Given the description of an element on the screen output the (x, y) to click on. 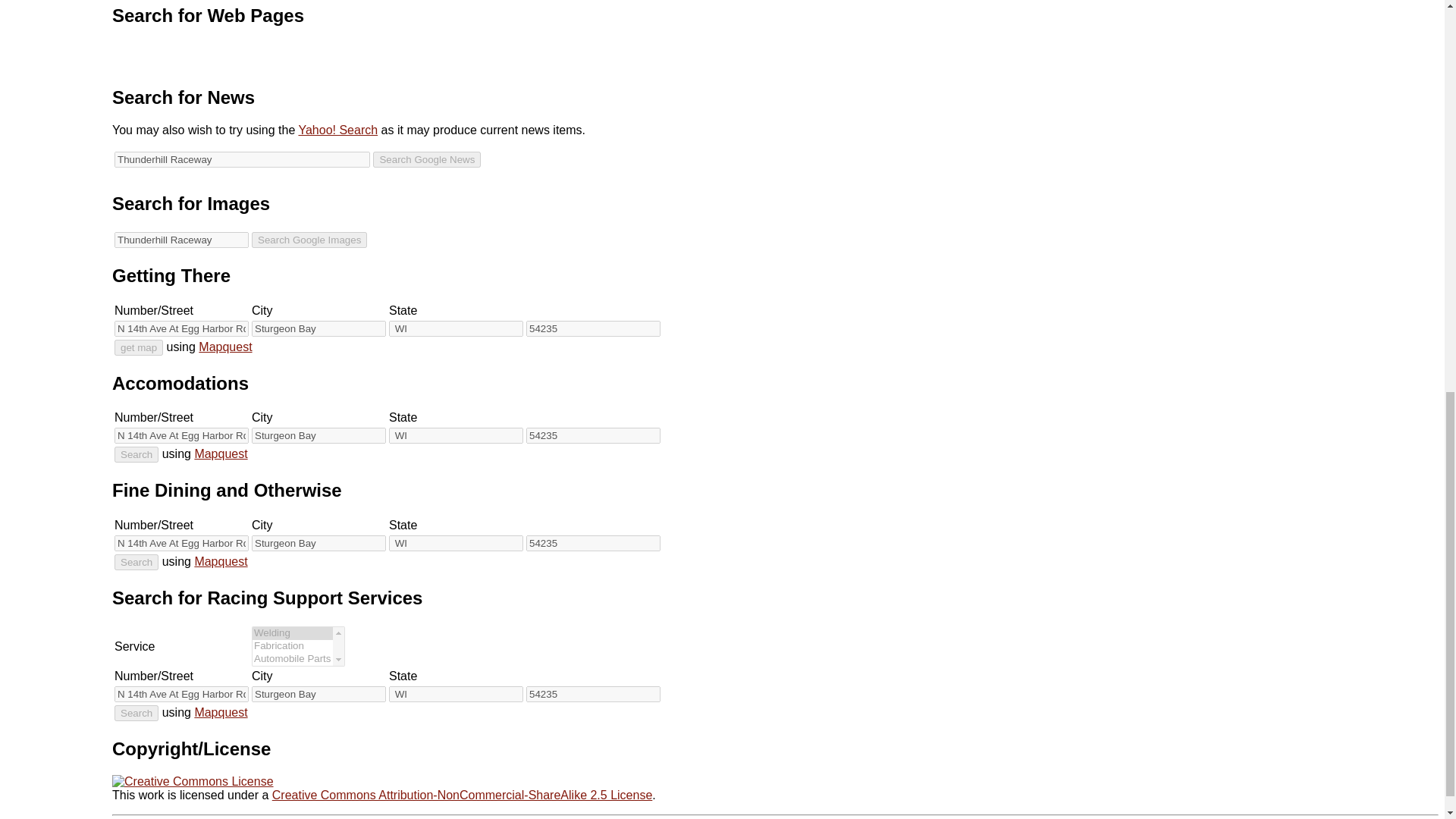
Sturgeon Bay (318, 543)
Search Google Images (308, 239)
Search for News (183, 96)
 WI (455, 435)
54235 (593, 328)
Search for Web Pages (208, 14)
Sturgeon Bay (318, 328)
get map (139, 347)
 WI (455, 543)
Yahoo! Search (337, 129)
